Given the description of an element on the screen output the (x, y) to click on. 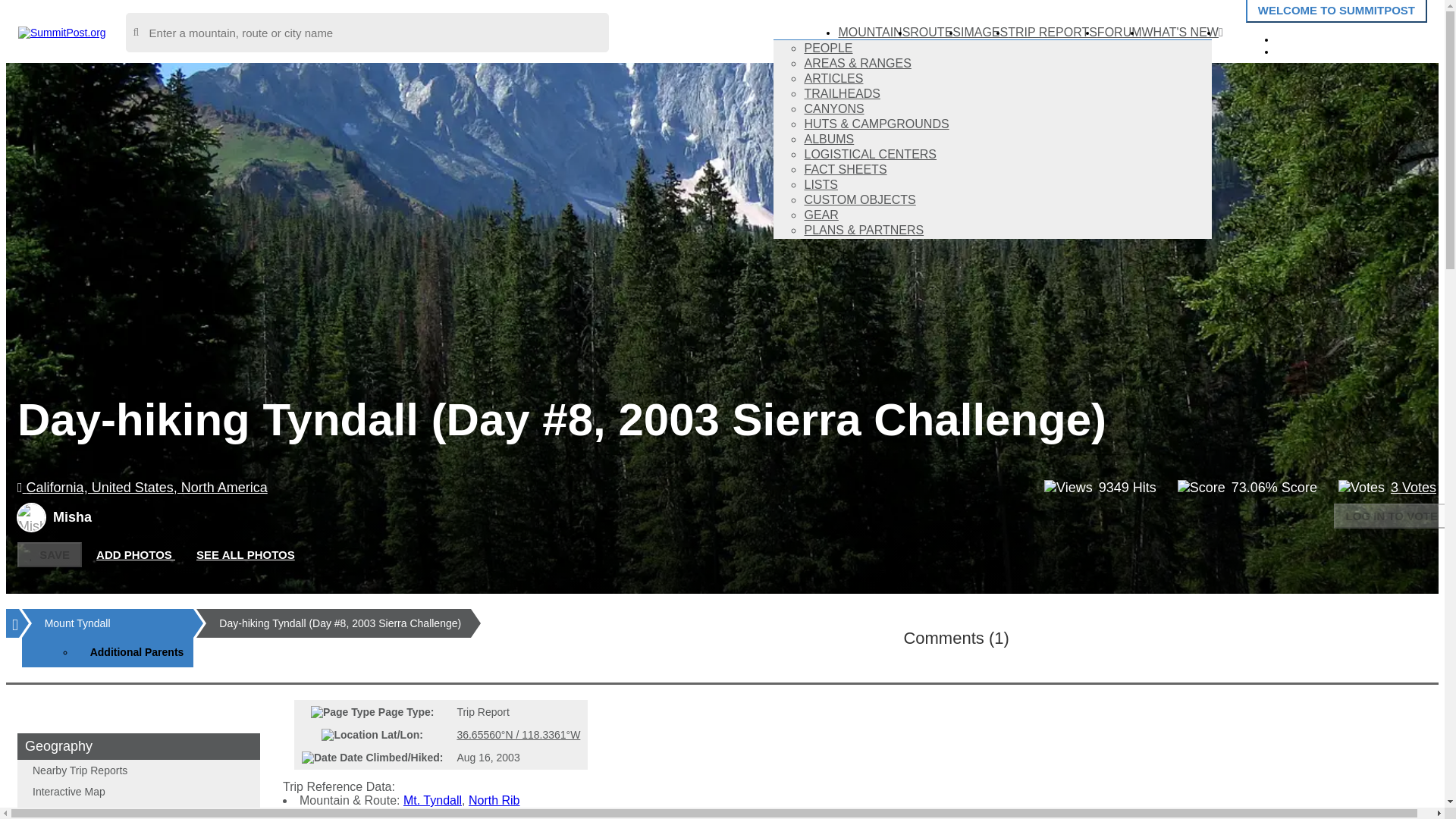
WELCOME TO SUMMITPOST (1336, 11)
Misha (31, 517)
Page Type (343, 711)
FORUM (1119, 31)
ADD PHOTOS (135, 554)
PEOPLE (827, 47)
REGISTER (1318, 50)
ROUTES (935, 31)
Mt. Tyndall (432, 799)
  SAVE (49, 554)
